Given the description of an element on the screen output the (x, y) to click on. 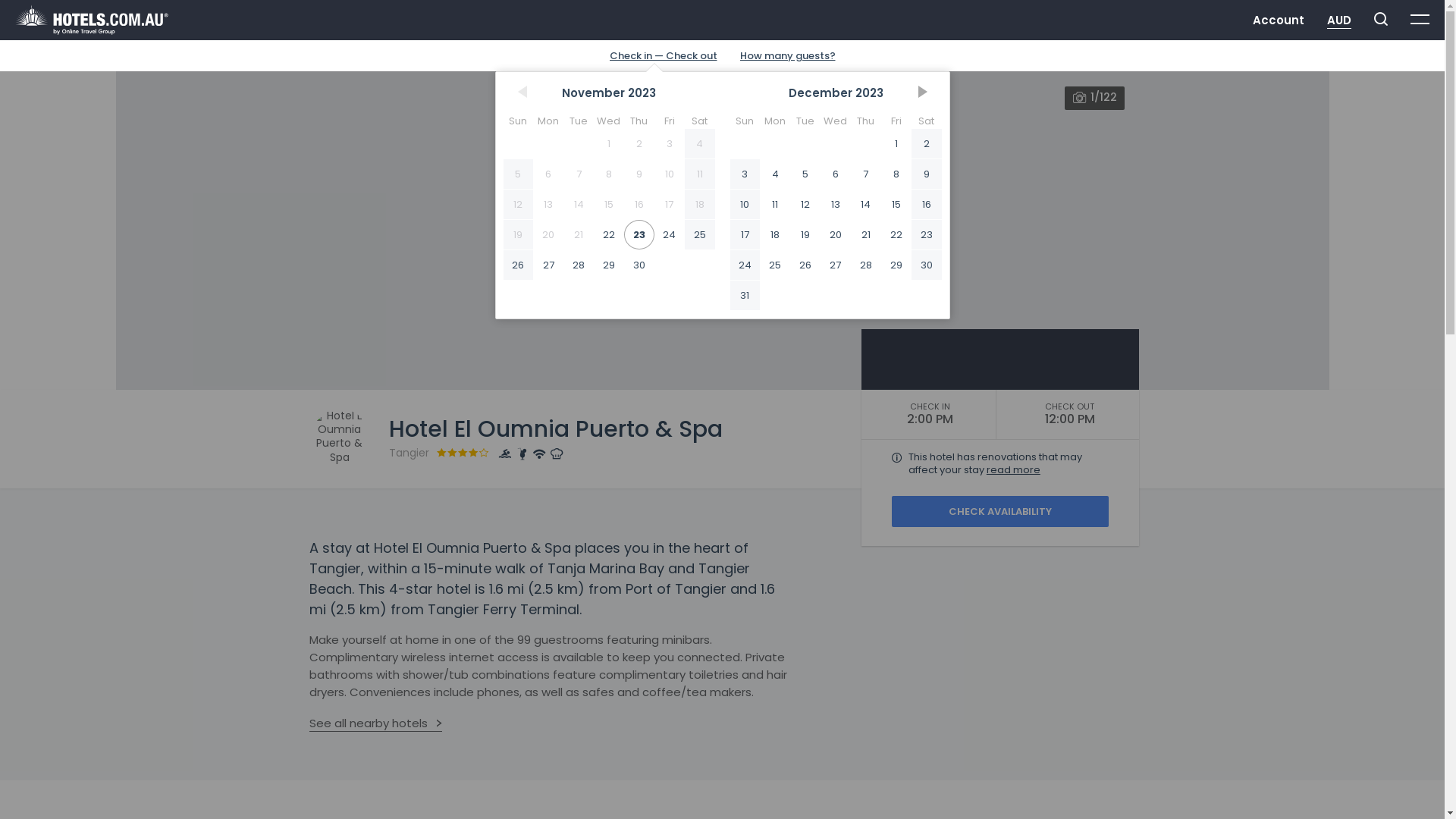
See all nearby hotels Element type: text (375, 723)
AUD Element type: text (1339, 20)
read more Element type: text (1013, 469)
1/122 Element type: text (722, 230)
Account Element type: text (1278, 20)
